Given the description of an element on the screen output the (x, y) to click on. 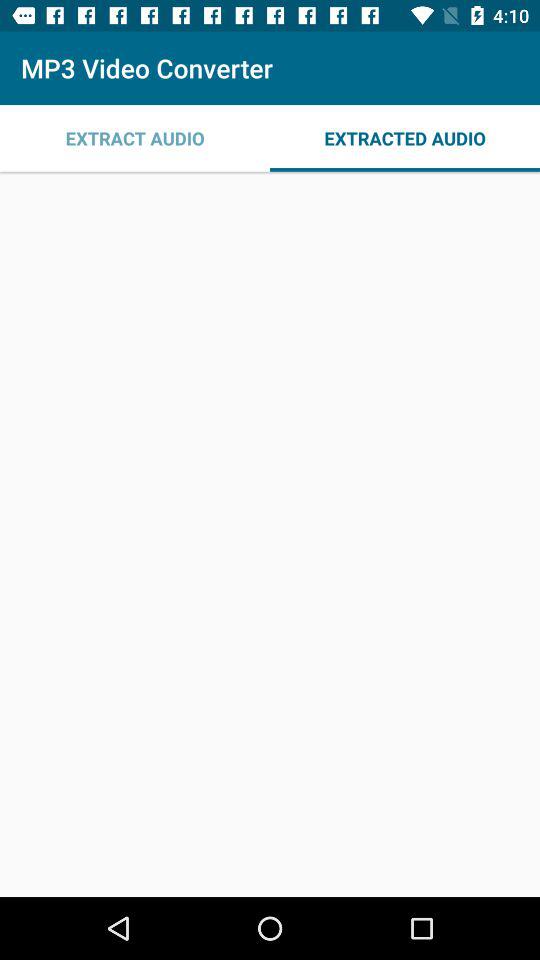
press icon next to extracted audio item (135, 138)
